Given the description of an element on the screen output the (x, y) to click on. 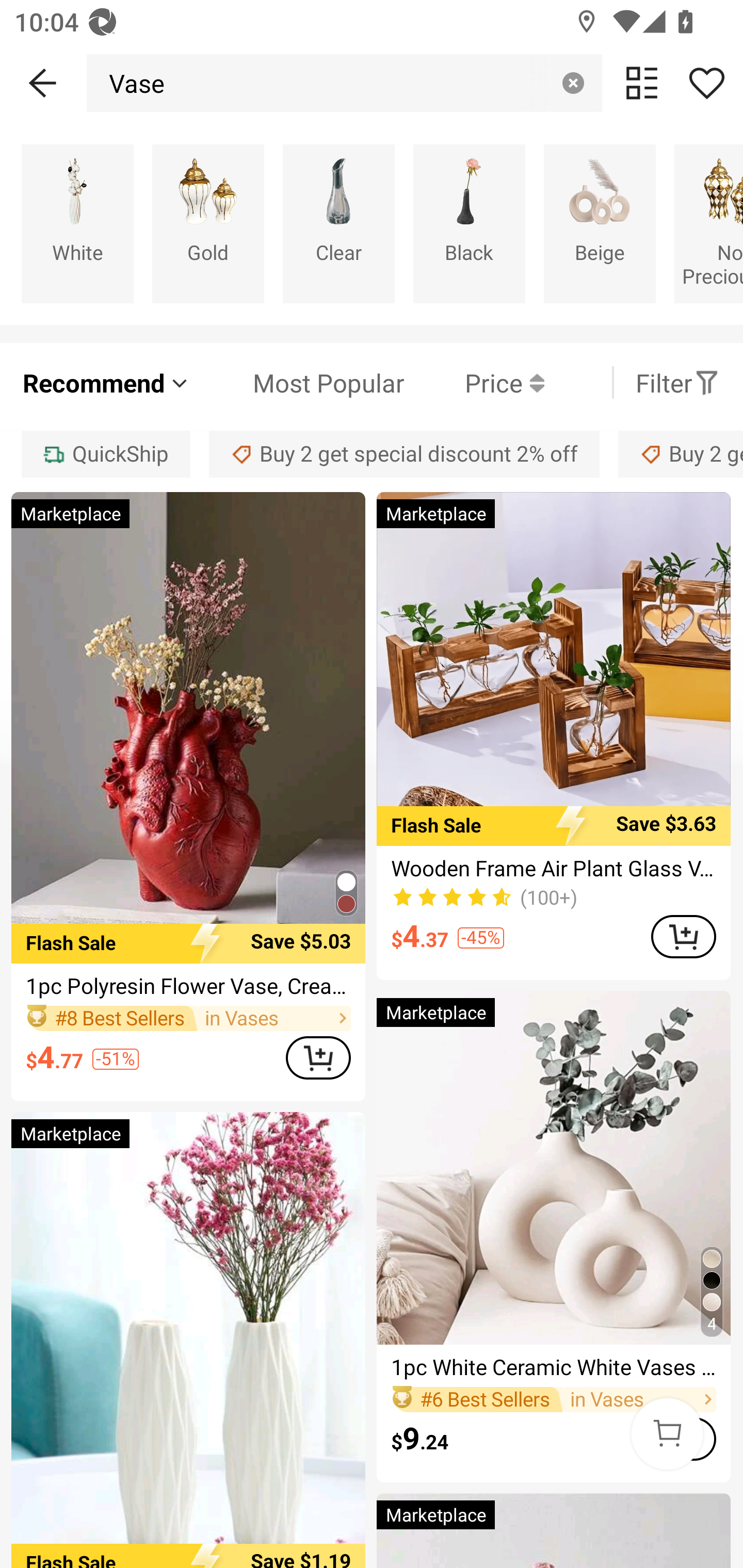
Vase Clear (343, 82)
Vase (130, 82)
Clear (572, 82)
change view (641, 82)
Share (706, 82)
White (77, 223)
Gold (208, 223)
Clear (338, 223)
Black (469, 223)
Beige (599, 223)
Recommend (106, 382)
Most Popular (297, 382)
Price (474, 382)
Filter (677, 382)
QuickShip (105, 454)
Buy 2 get special discount 2% off (403, 454)
Buy 2 get special discount 3% off (680, 454)
ADD TO CART (683, 936)
#8 Best Sellers in Vases (188, 1018)
ADD TO CART (318, 1057)
#6 Best Sellers in Vases (553, 1399)
ADD TO CART (683, 1439)
